Given the description of an element on the screen output the (x, y) to click on. 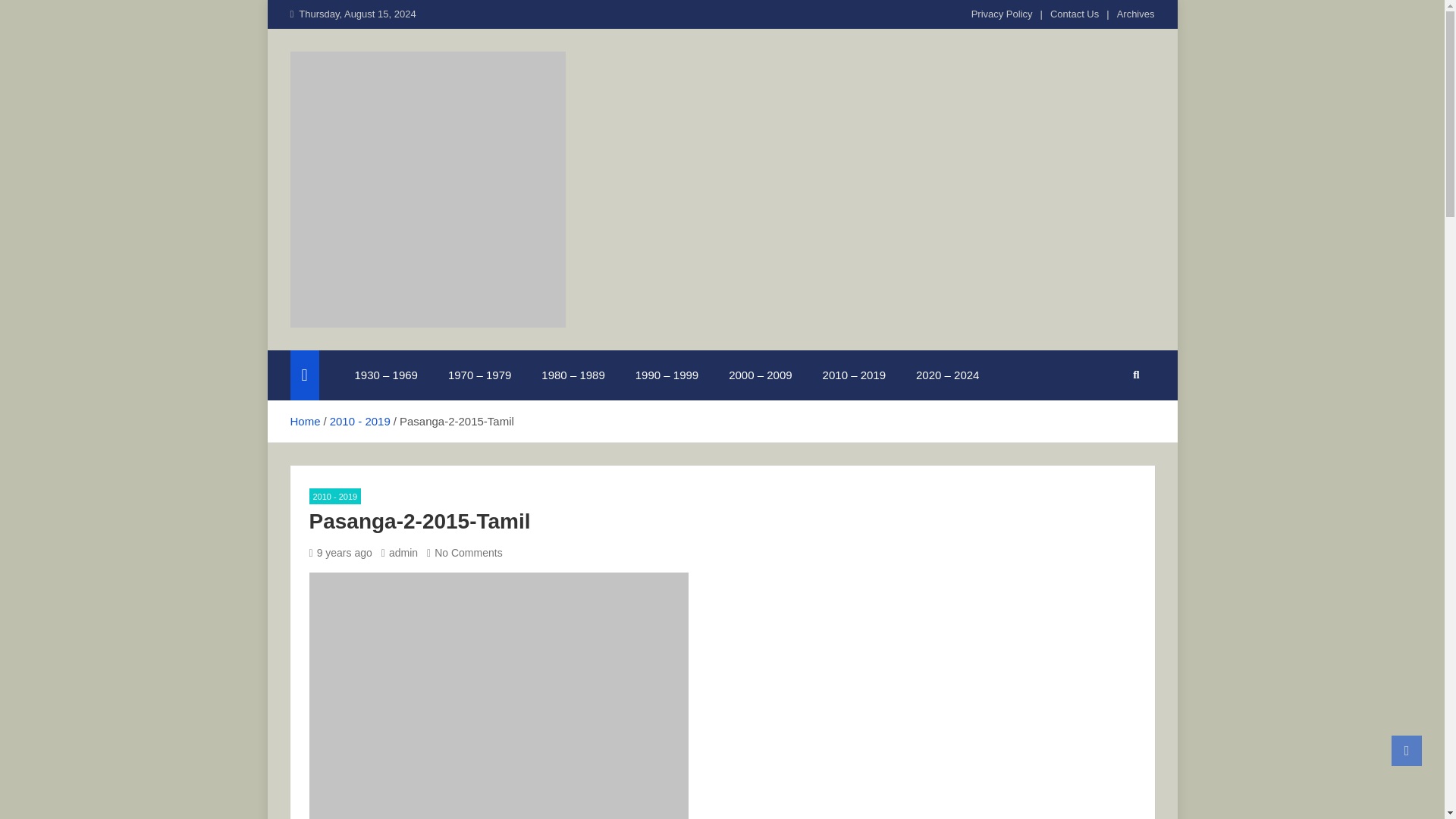
admin (399, 552)
Contact Us (1074, 13)
Privacy Policy (1001, 13)
Home (304, 420)
MaJaa.Mobi (375, 346)
9 years ago (340, 552)
Pasanga-2-2015-Tamil (498, 695)
2010 - 2019 (334, 496)
2010 - 2019 (360, 420)
Pasanga-2-2015-Tamil (340, 552)
